Given the description of an element on the screen output the (x, y) to click on. 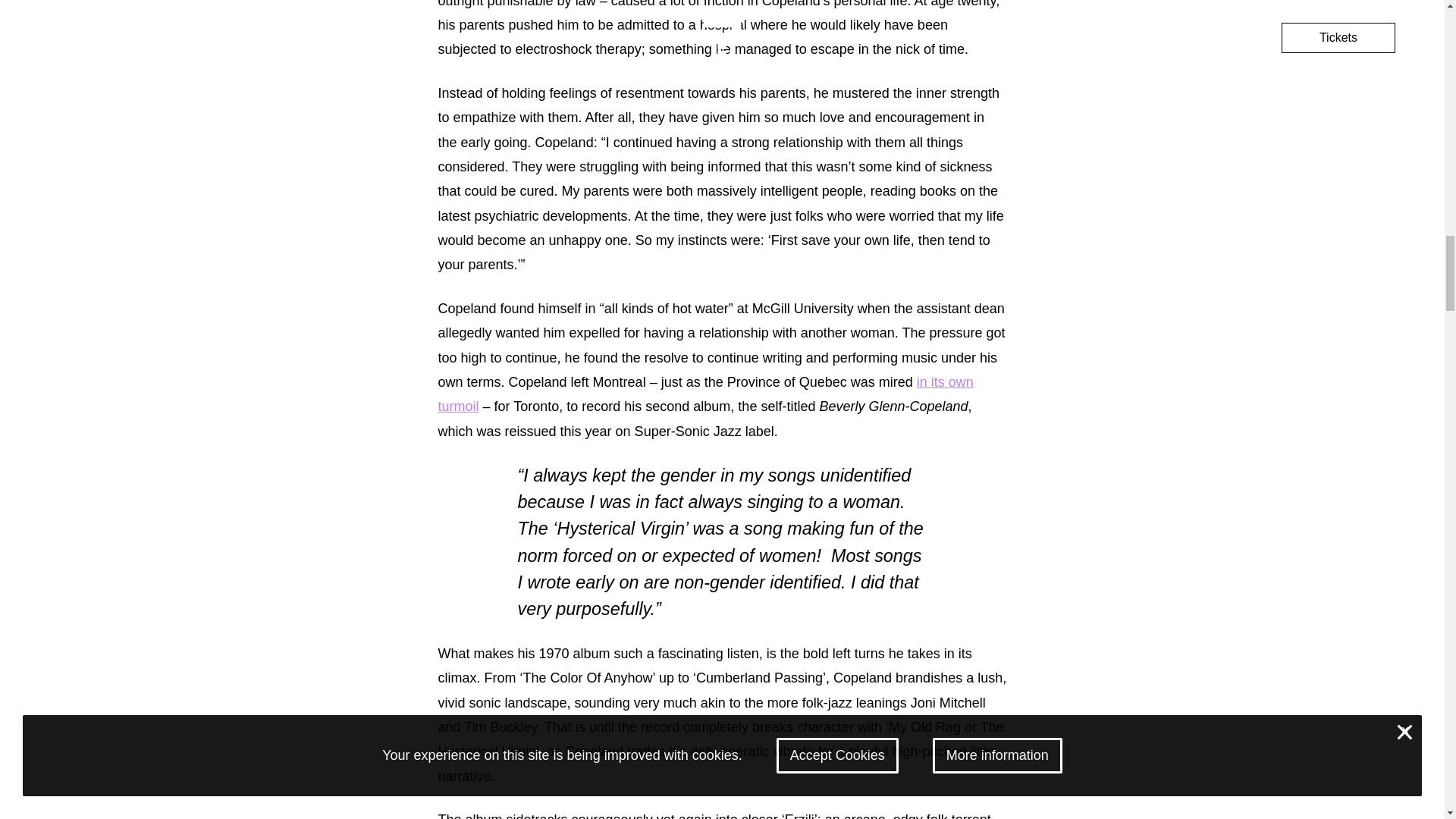
in its own turmoil (706, 394)
